Given the description of an element on the screen output the (x, y) to click on. 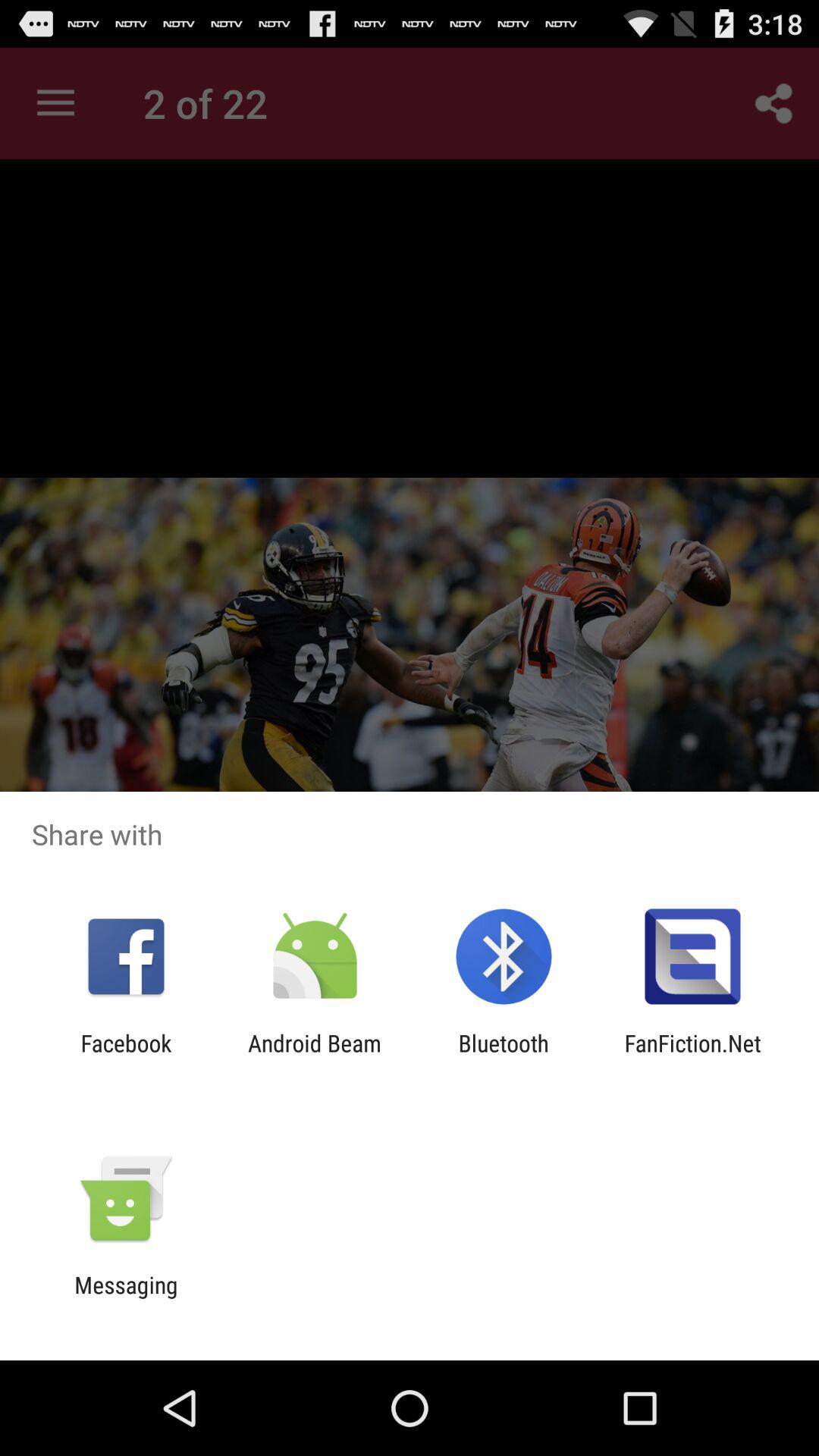
open item to the right of the bluetooth app (692, 1056)
